Given the description of an element on the screen output the (x, y) to click on. 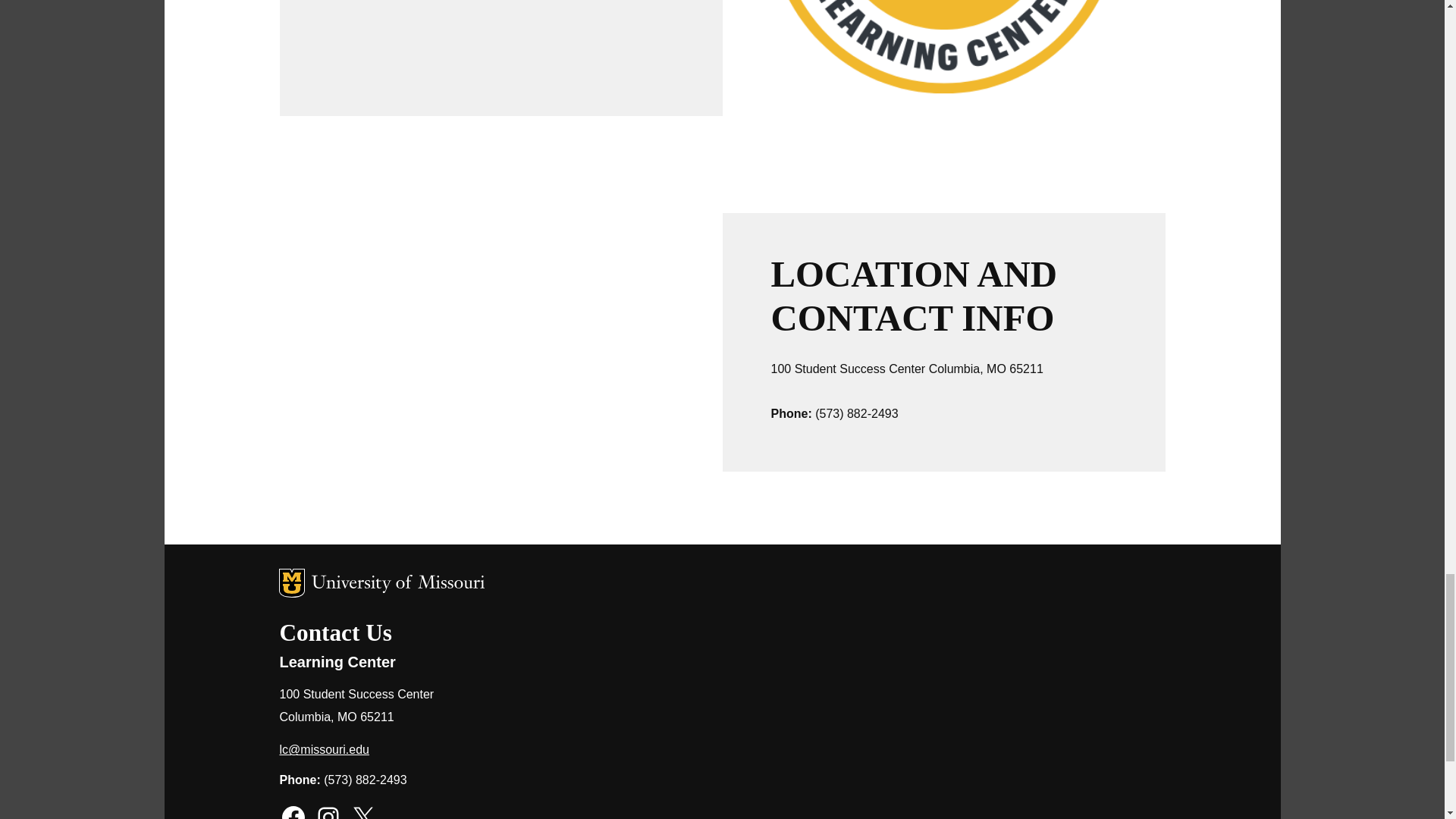
Learning Center Location (500, 361)
